Given the description of an element on the screen output the (x, y) to click on. 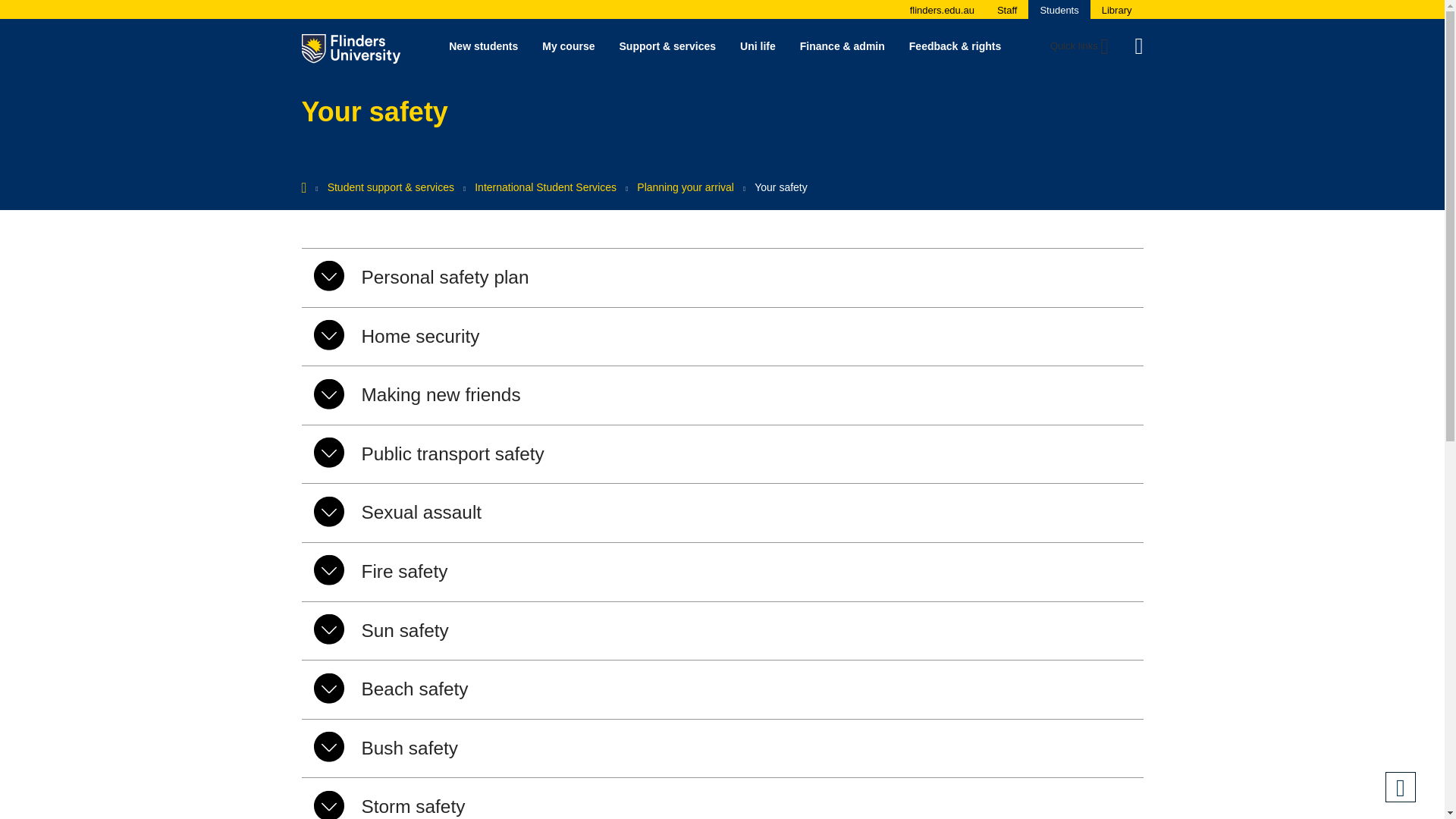
My course (568, 45)
Back to top (1400, 787)
Students (1058, 9)
flinders.edu.au (942, 9)
Library (1117, 9)
New students (482, 45)
Staff (1007, 9)
